Given the description of an element on the screen output the (x, y) to click on. 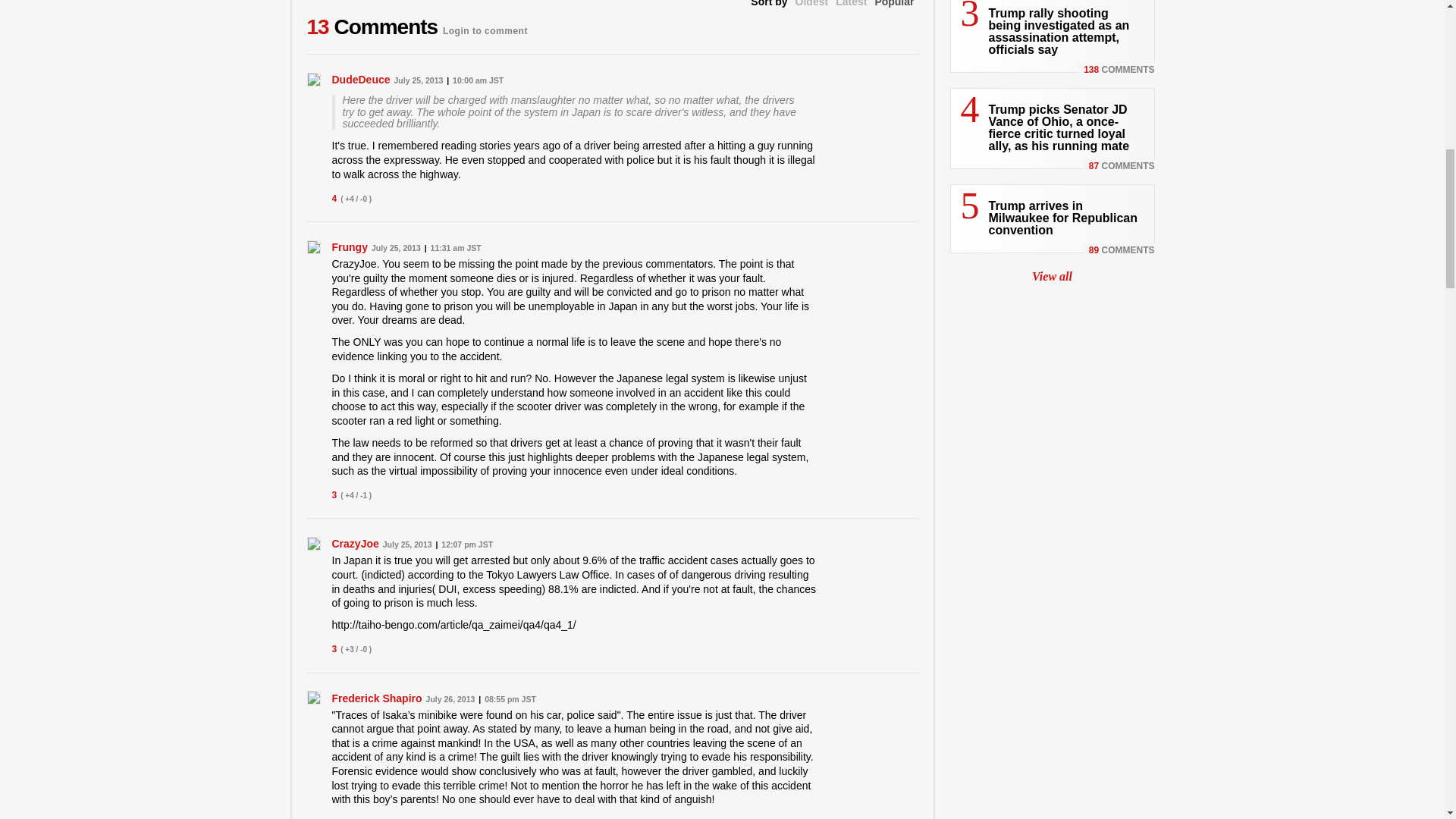
Trump arrives in Milwaukee for Republican convention (1062, 217)
Login to comment (484, 26)
